Given the description of an element on the screen output the (x, y) to click on. 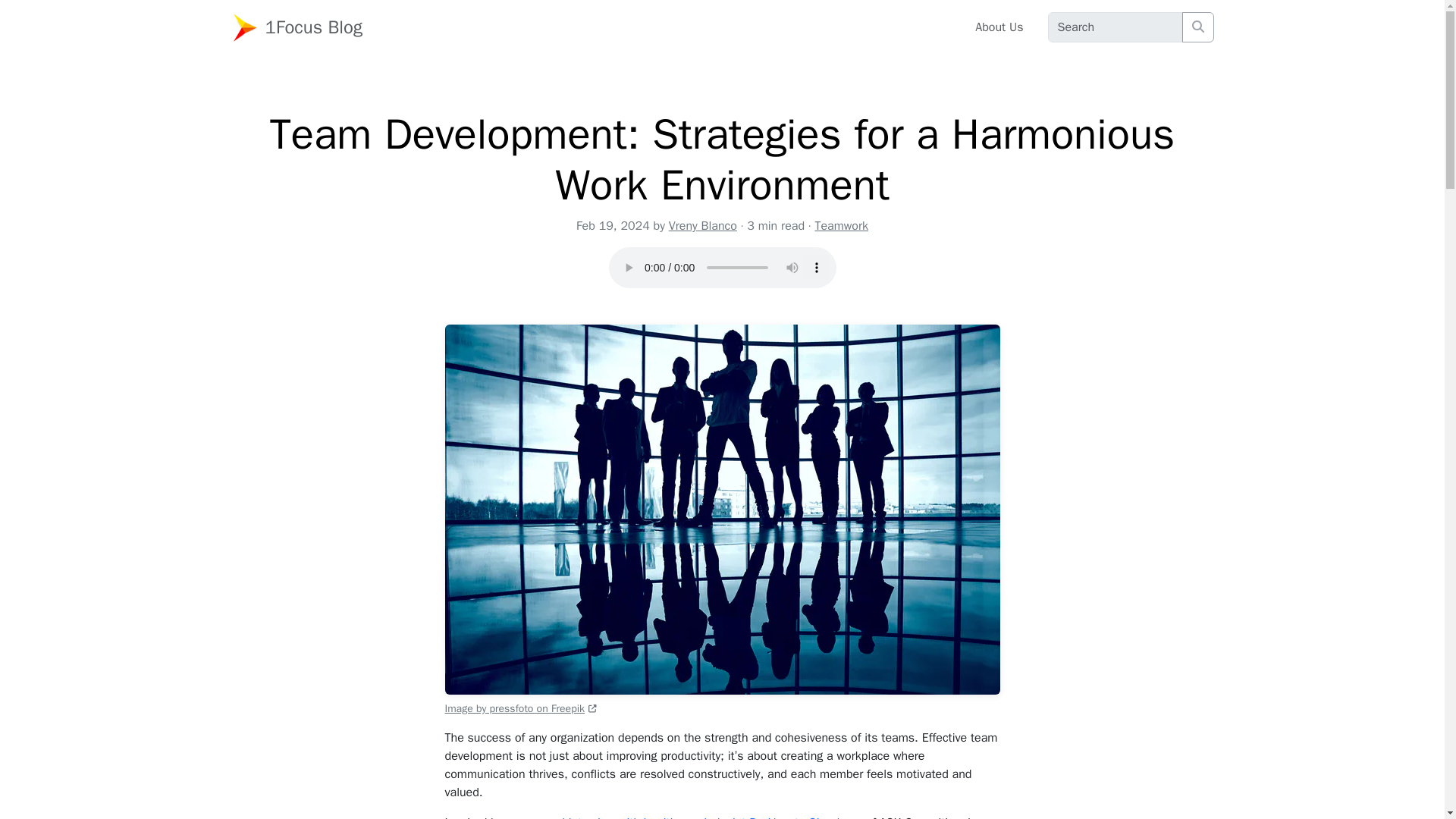
Image by pressfoto on Freepik (520, 708)
About Us (998, 27)
Vreny Blanco (702, 225)
1Focus Blog (302, 27)
Teamwork (840, 225)
